Given the description of an element on the screen output the (x, y) to click on. 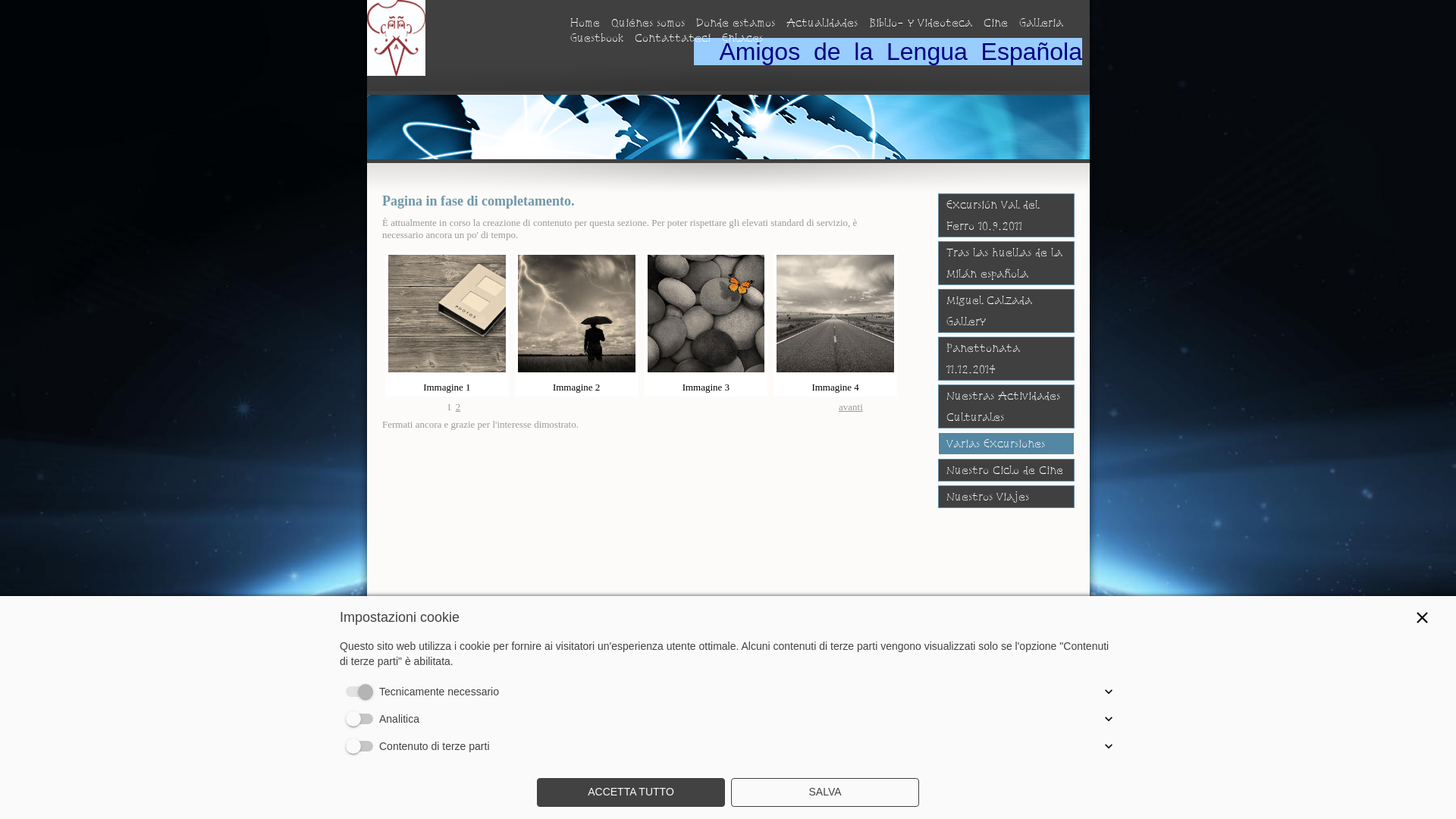
Nuestras Actividades Culturales Element type: text (1006, 406)
Cine Element type: text (995, 22)
Enlaces Element type: text (741, 37)
Varias Excursiones Element type: text (1006, 443)
Galleria Element type: text (486, 688)
Home Element type: text (394, 688)
Donde estamos Element type: text (735, 22)
Guestbook Element type: text (535, 688)
Actualidades Element type: text (821, 22)
SALVA Element type: text (825, 792)
Contattateci Element type: text (672, 37)
avanti Element type: text (850, 406)
2 Element type: text (458, 406)
Immagine 4 Element type: text (835, 323)
Immagine 1 Element type: text (446, 323)
Nuestro Ciclo de Cine Element type: text (1006, 469)
Contattatetci Element type: text (593, 688)
Galleria Element type: text (1041, 22)
Guestbook Element type: text (596, 37)
Immagine 3 Element type: text (706, 323)
Chi siamo Element type: text (437, 688)
Miguel Calzada Gallery Element type: text (1006, 310)
Nuestros Viajes Element type: text (1006, 496)
Home Element type: text (584, 22)
Biblio- y Videoteca Element type: text (920, 22)
Panettonata 11.12.2014 Element type: text (1006, 358)
ACCETTA TUTTO Element type: text (630, 792)
Immagine 2 Element type: text (576, 323)
